Given the description of an element on the screen output the (x, y) to click on. 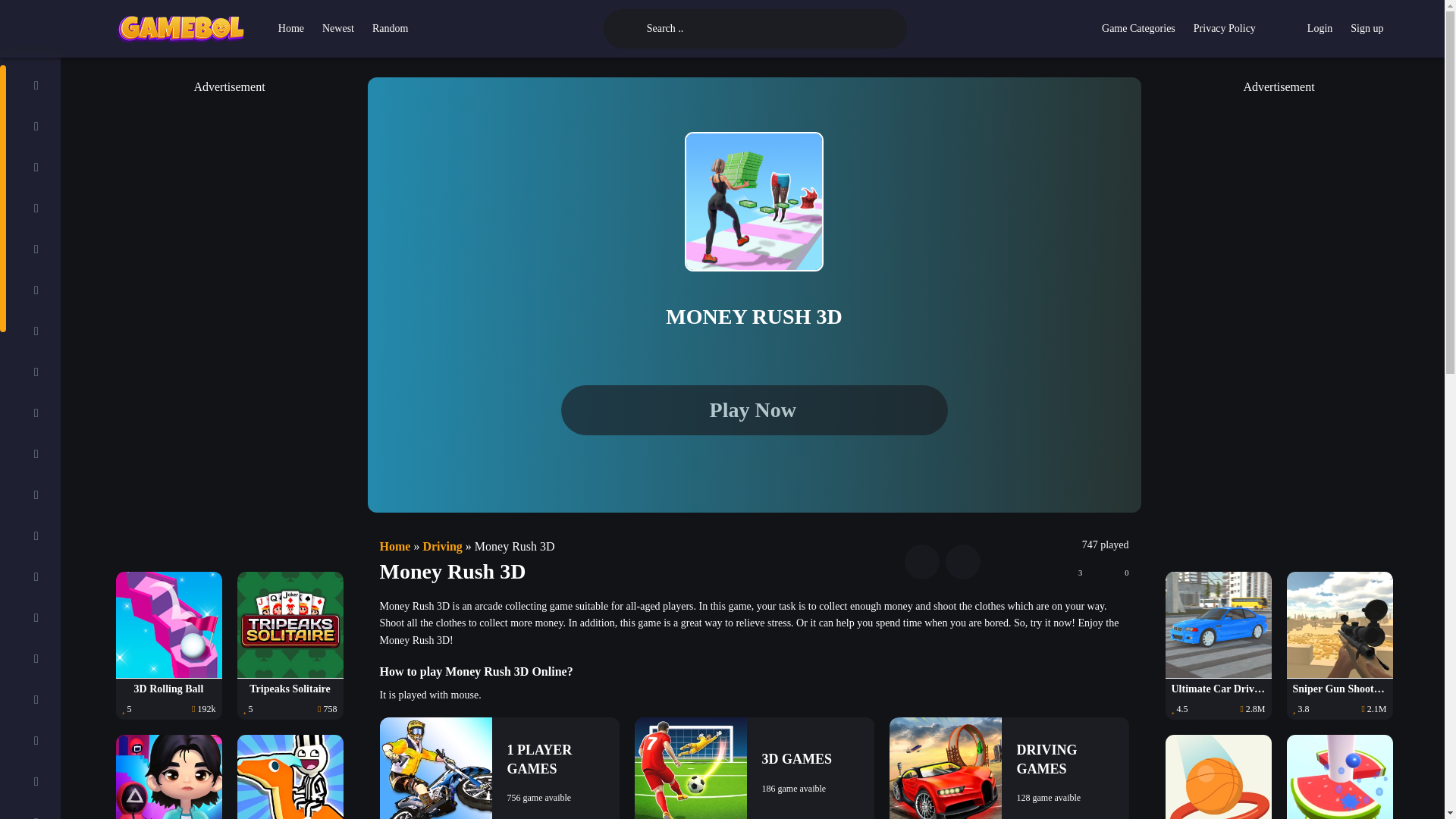
Privacy Policy (1225, 28)
Home (291, 28)
Newest (337, 28)
Random (389, 28)
Game Categories (1139, 28)
Login (1319, 28)
Sign up (1365, 28)
